Given the description of an element on the screen output the (x, y) to click on. 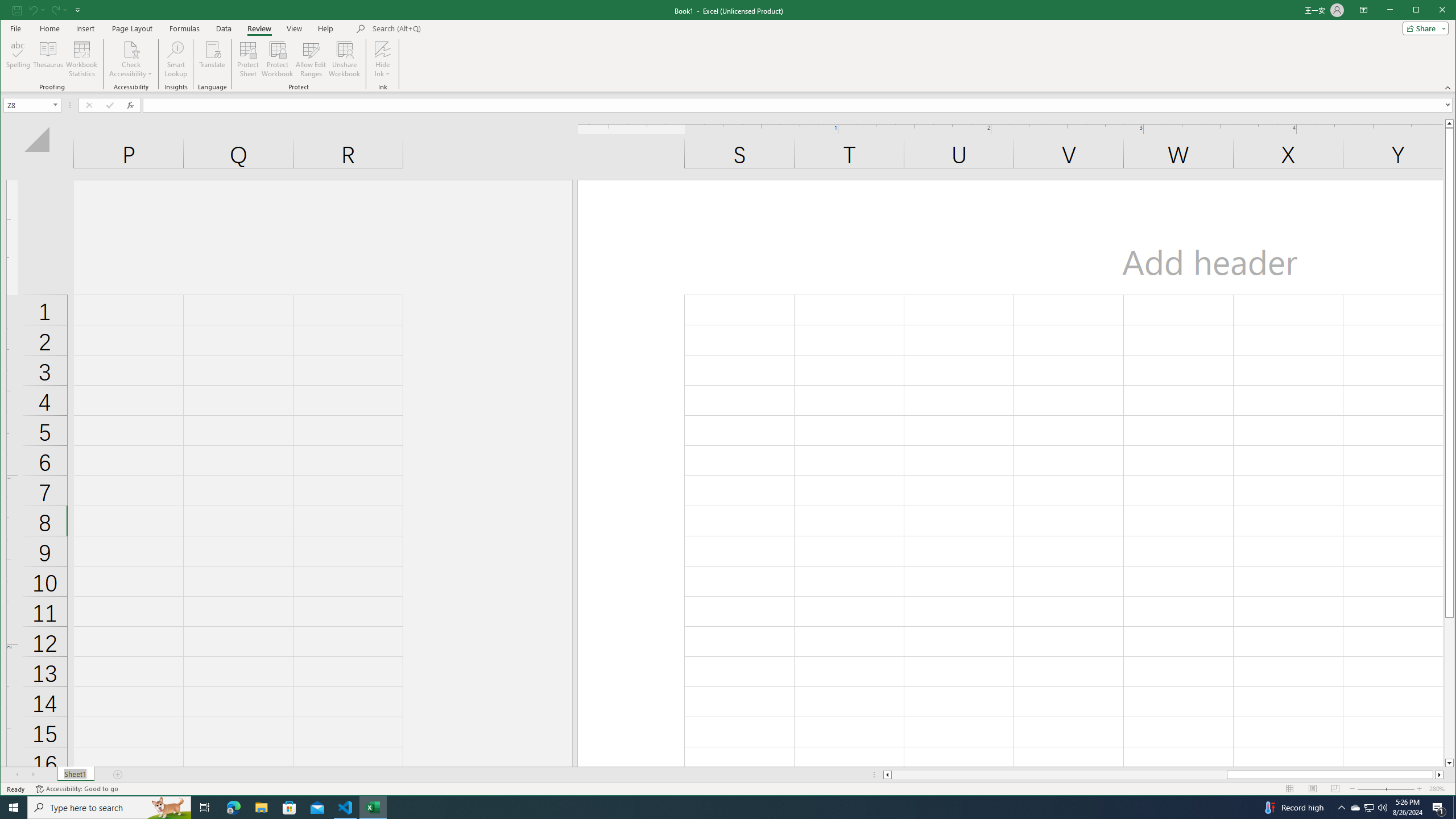
Excel - 1 running window (373, 807)
Spelling... (18, 59)
File Explorer (261, 807)
